Given the description of an element on the screen output the (x, y) to click on. 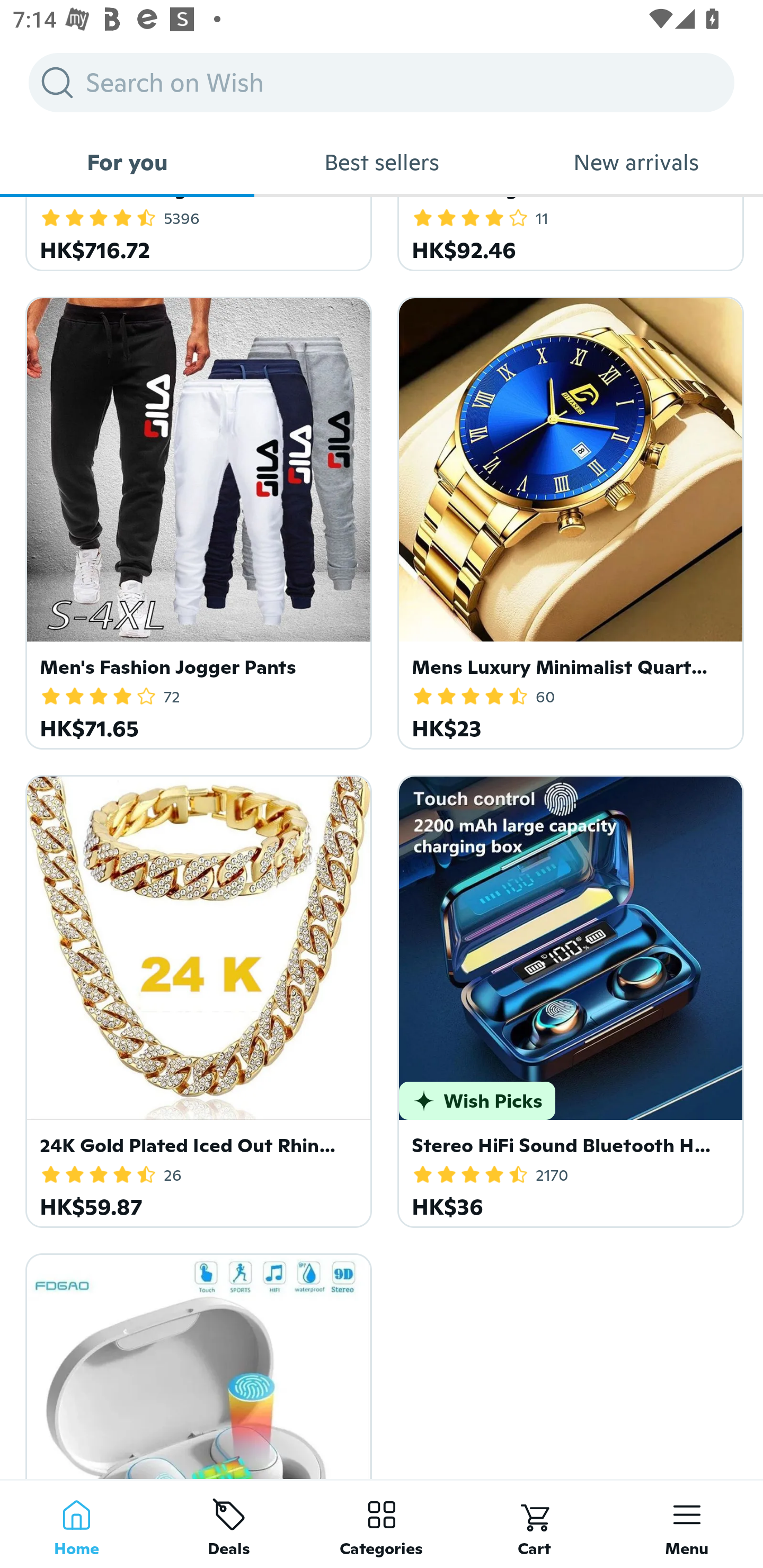
Search on Wish (381, 82)
For you (127, 161)
Best sellers (381, 161)
New arrivals (635, 161)
Home (76, 1523)
Deals (228, 1523)
Categories (381, 1523)
Cart (533, 1523)
Menu (686, 1523)
